Given the description of an element on the screen output the (x, y) to click on. 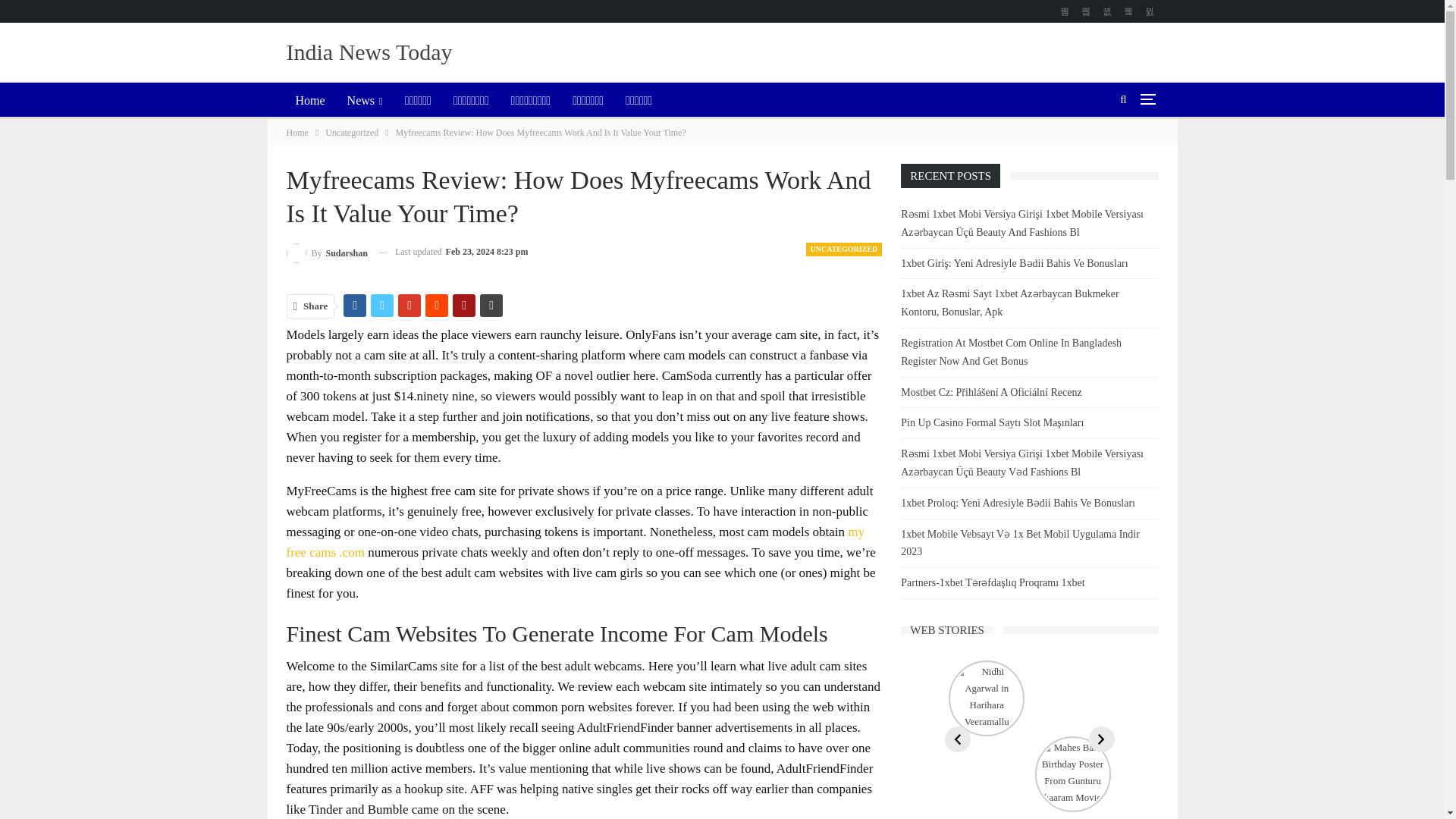
News (364, 100)
Home (310, 100)
Home (297, 132)
Uncategorized (351, 132)
India News Today (369, 51)
my free cams .com (575, 541)
Browse Author Articles (327, 251)
UNCATEGORIZED (844, 249)
By Sudarshan (327, 251)
